Given the description of an element on the screen output the (x, y) to click on. 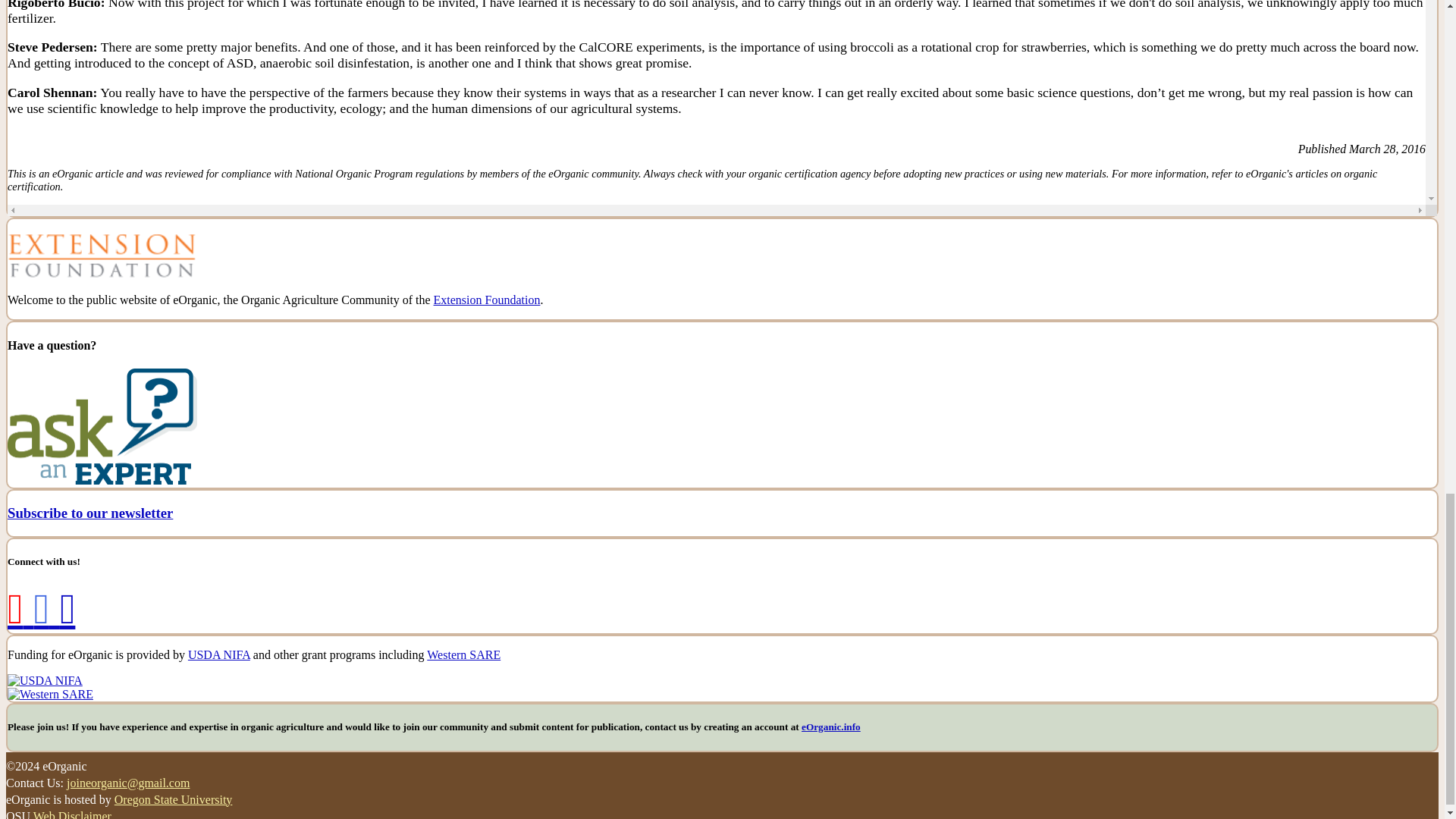
Extension Foundation (486, 299)
Western SARE (463, 654)
USDA NIFA (218, 654)
Subscribe to our newsletter (90, 512)
eOrganic.info (831, 726)
